Given the description of an element on the screen output the (x, y) to click on. 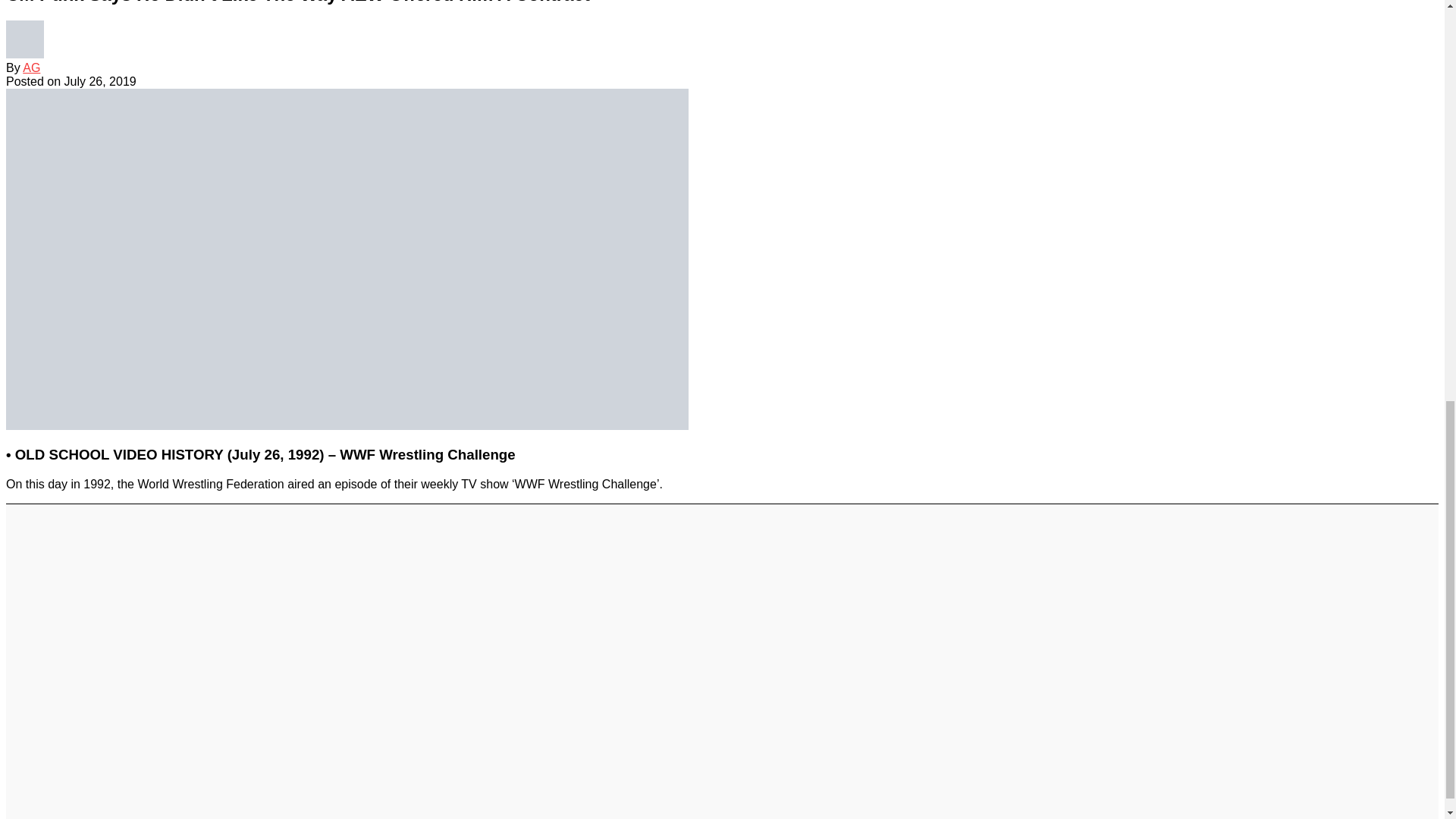
Posts by AG (31, 67)
